Given the description of an element on the screen output the (x, y) to click on. 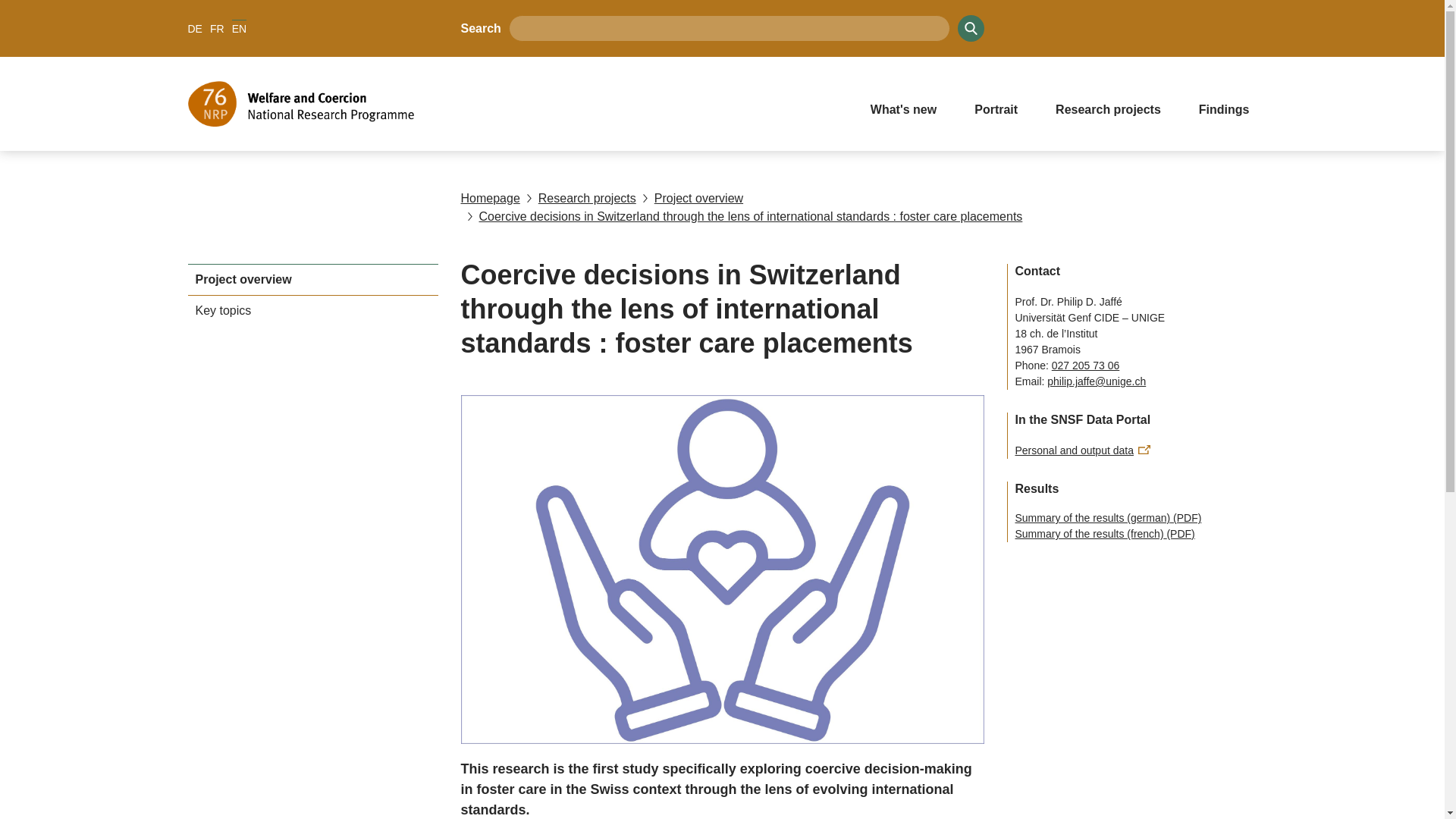
027 205 73 06 (1085, 365)
Project overview (312, 280)
What's new (903, 107)
Research projects (1108, 107)
Project overview (689, 198)
External Link Icon (1144, 449)
Homepage (490, 198)
Key topics (312, 311)
Portrait (995, 107)
Findings (1224, 107)
Research projects (577, 198)
Personal and output dataExternal Link Icon (1082, 450)
